Given the description of an element on the screen output the (x, y) to click on. 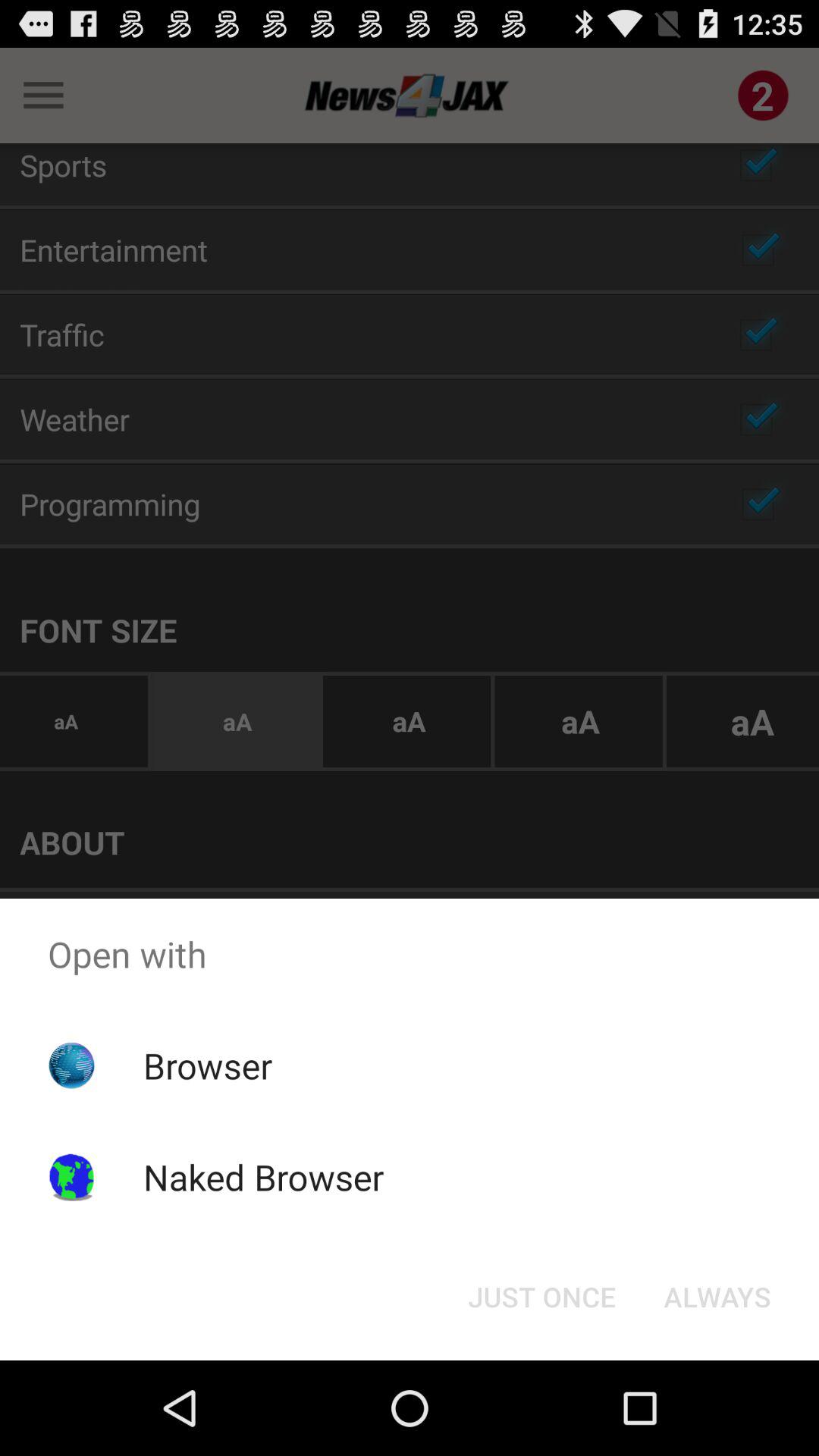
tap item below browser app (263, 1176)
